Given the description of an element on the screen output the (x, y) to click on. 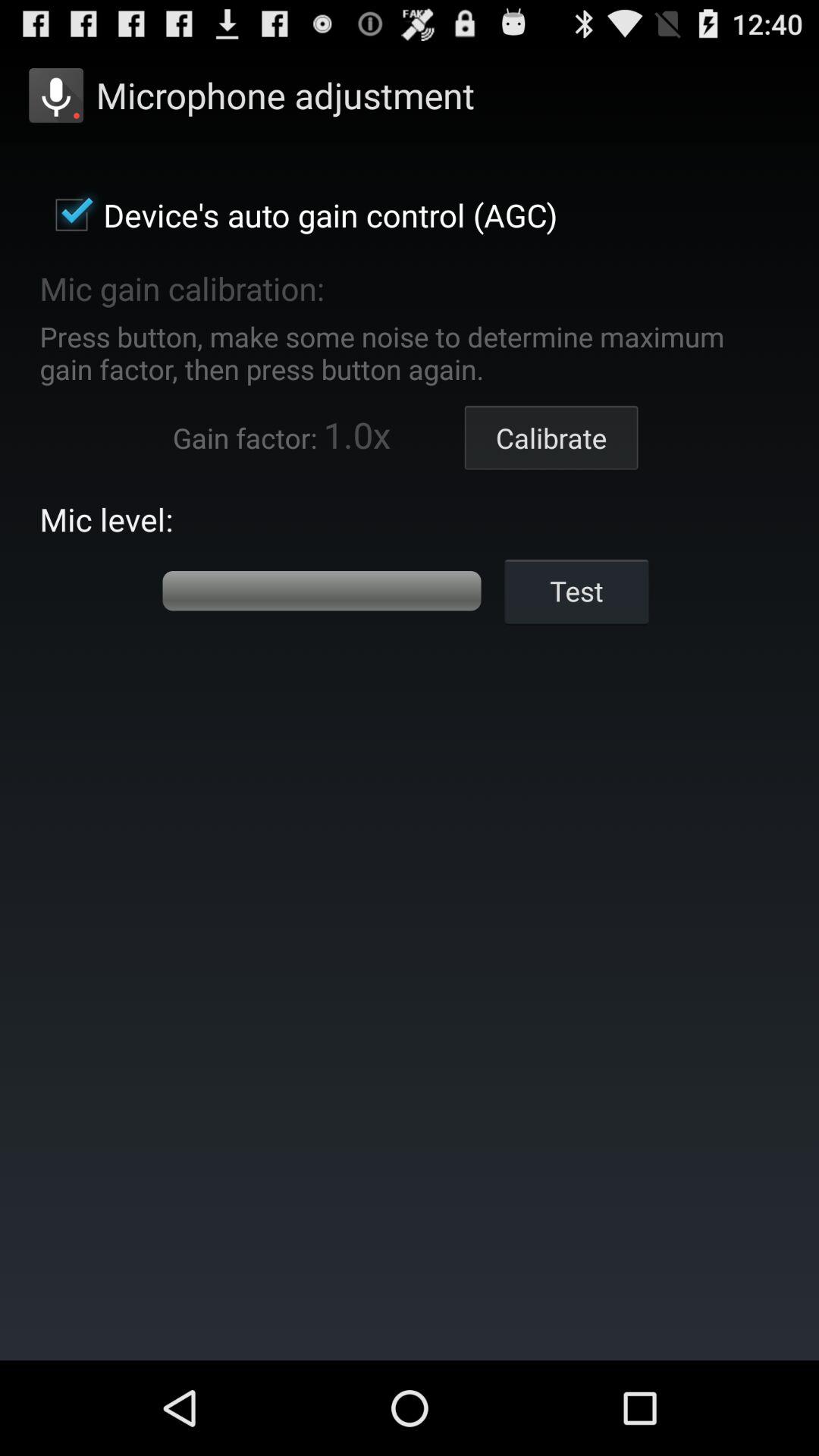
turn on device s auto item (298, 214)
